Given the description of an element on the screen output the (x, y) to click on. 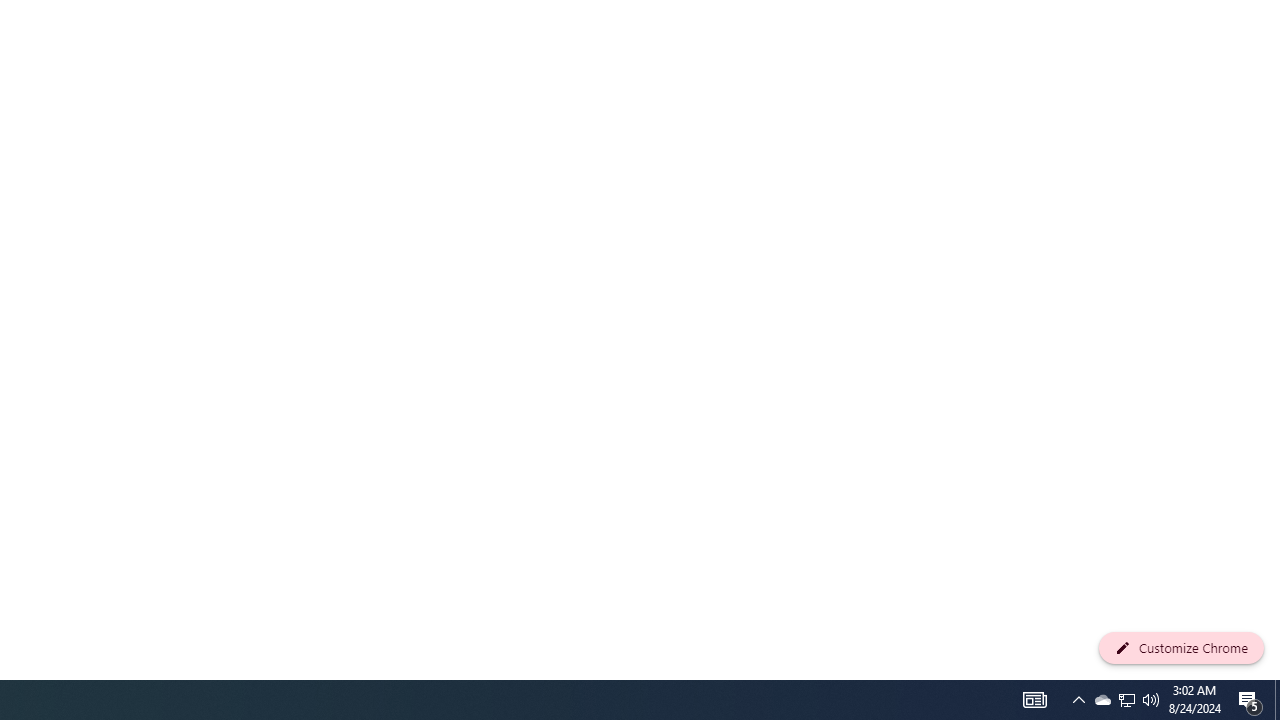
Customize Chrome (1181, 647)
